Given the description of an element on the screen output the (x, y) to click on. 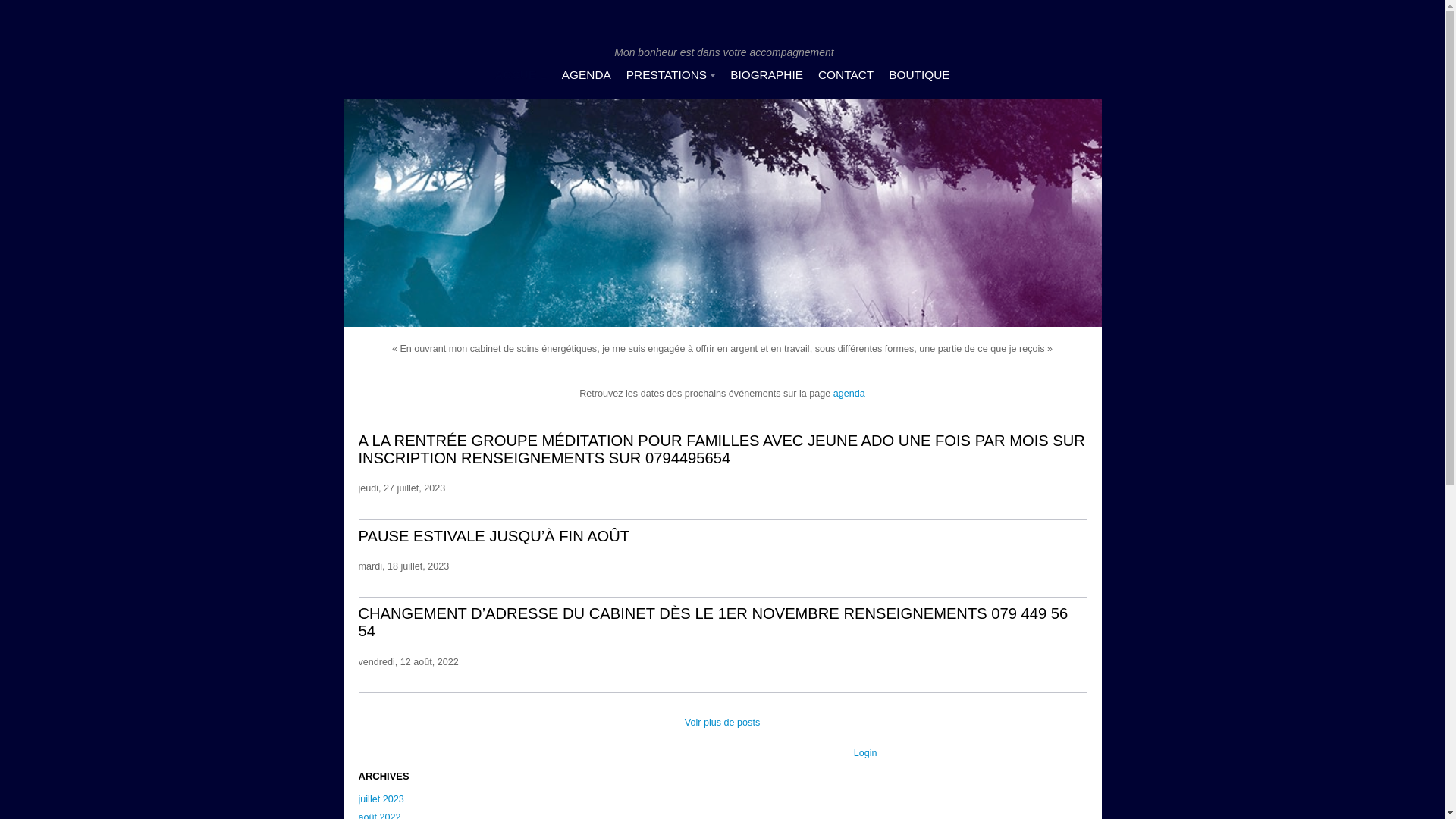
BIOGRAPHIE Element type: text (766, 74)
ACCUEIL Element type: text (520, 74)
CONTACT Element type: text (845, 74)
Login Element type: text (865, 752)
AGENDA Element type: text (586, 74)
agenda Element type: text (849, 393)
Voir plus de posts Element type: text (722, 722)
BOUTIQUE Element type: text (918, 74)
juillet 2023 Element type: text (391, 799)
PRESTATIONS Element type: text (666, 74)
